Given the description of an element on the screen output the (x, y) to click on. 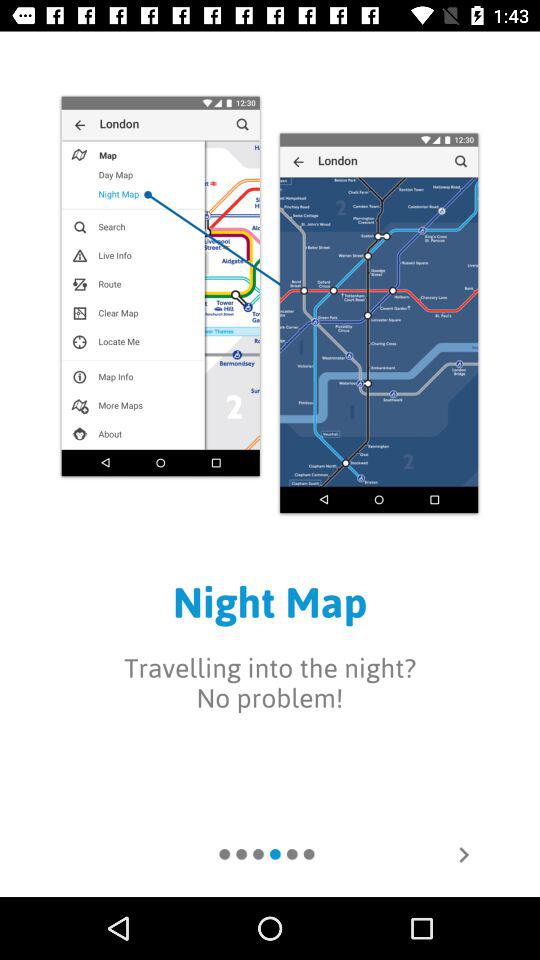
select the icon at the bottom right corner (463, 854)
